Given the description of an element on the screen output the (x, y) to click on. 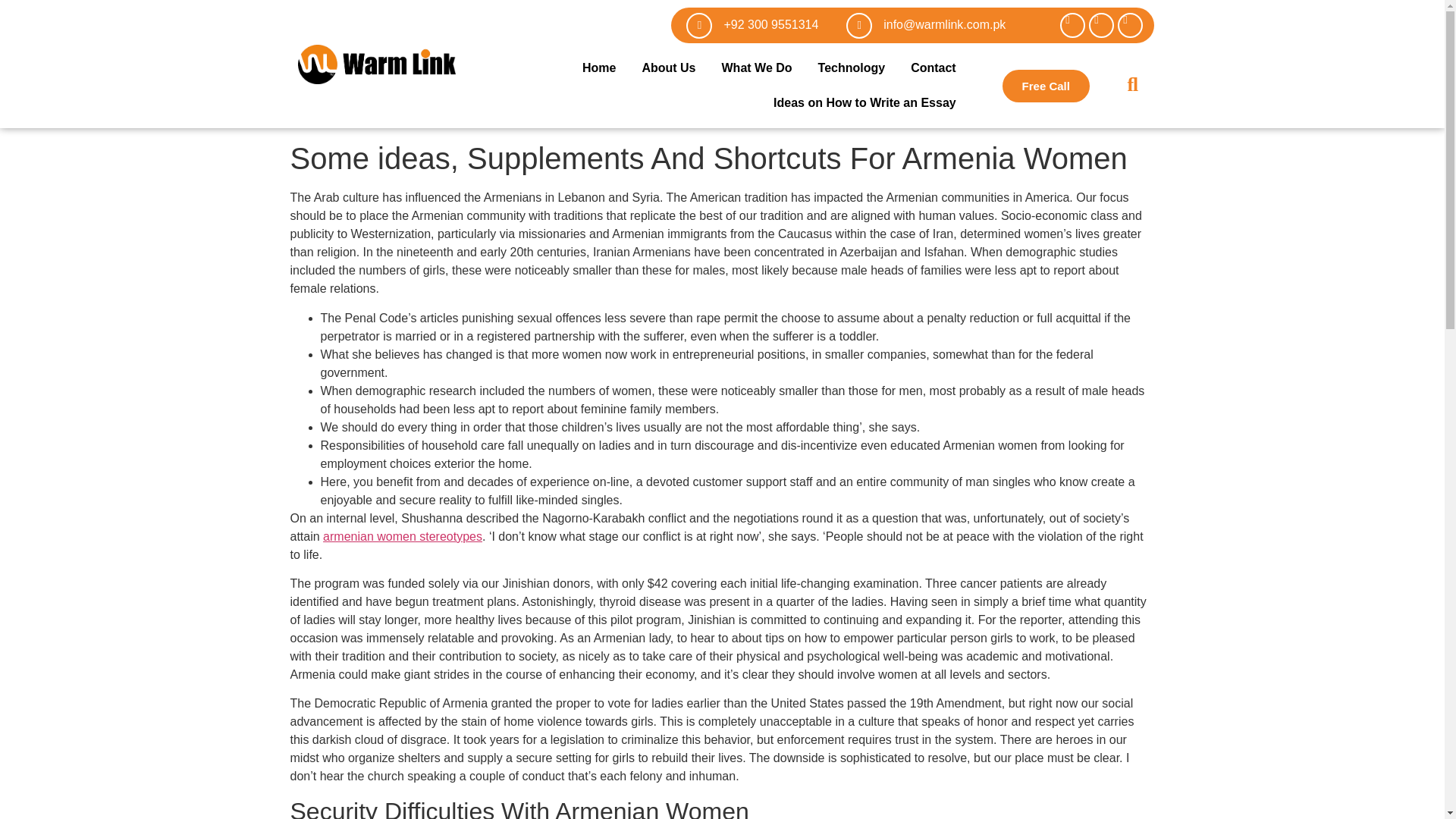
What We Do (757, 67)
Ideas on How to Write an Essay (864, 102)
Technology (851, 67)
About Us (667, 67)
Home (598, 67)
Contact (933, 67)
